Given the description of an element on the screen output the (x, y) to click on. 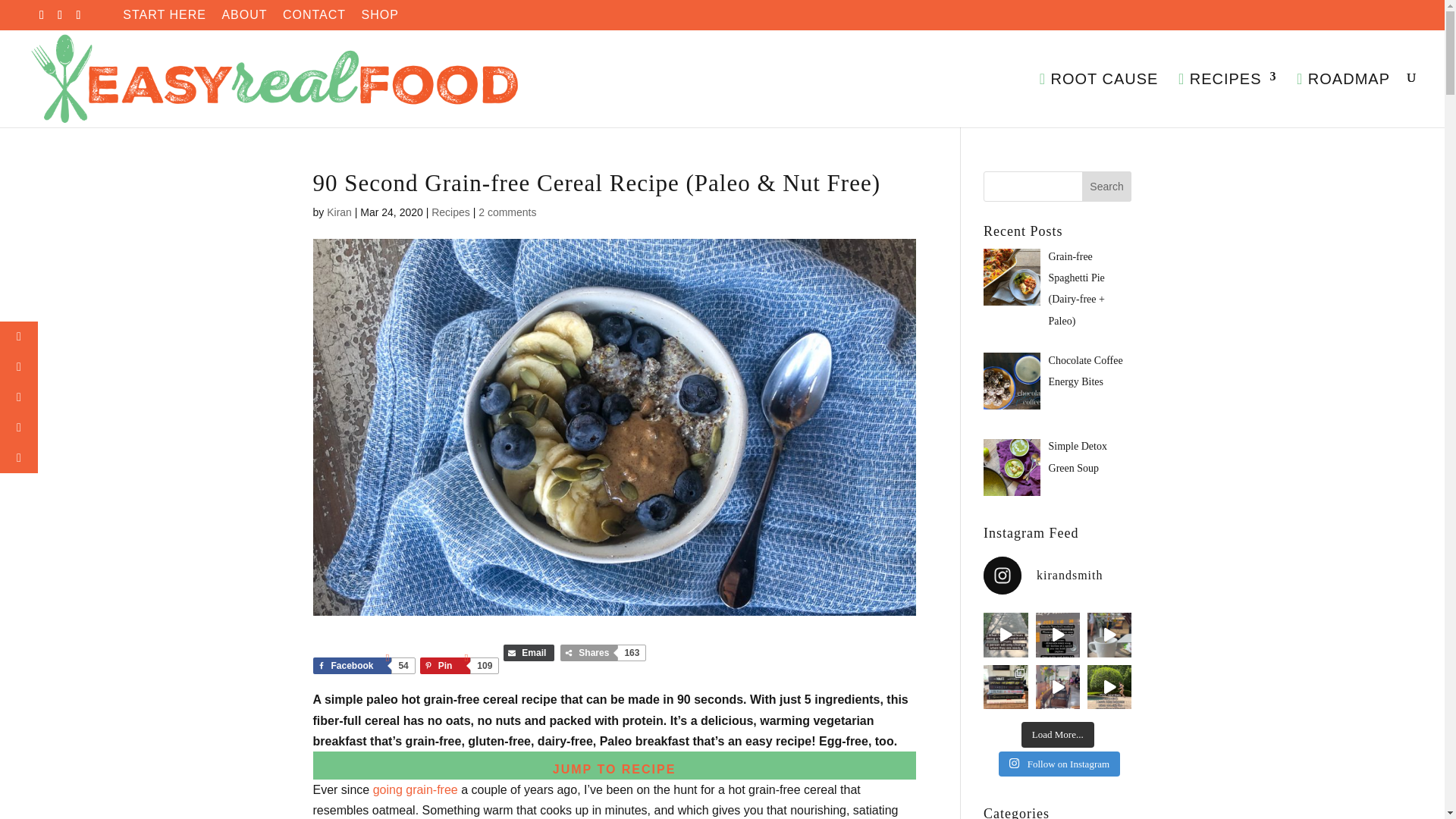
Share on Facebook (363, 665)
ROADMAP (1343, 99)
Kiran (339, 212)
RECIPES (1226, 99)
Posts by Kiran (339, 212)
SHOP (379, 19)
ABOUT (243, 19)
Share on Pinterest (458, 665)
CONTACT (314, 19)
Email (528, 652)
START HERE (164, 19)
Search (1106, 186)
2 comments (507, 212)
Email (528, 652)
ROOT CAUSE (1098, 99)
